Given the description of an element on the screen output the (x, y) to click on. 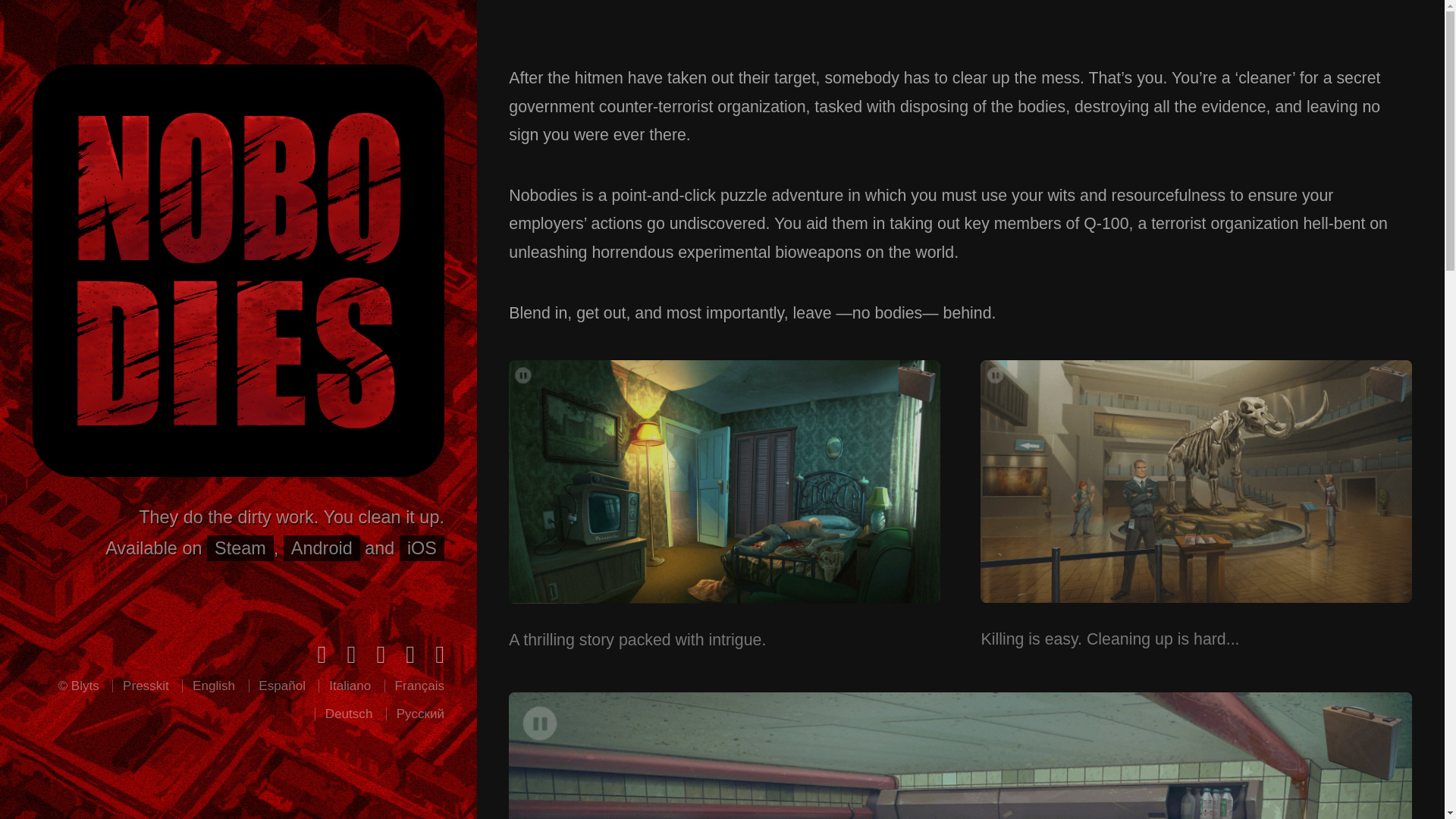
iOS (421, 548)
Blyts (85, 685)
English (213, 685)
Deutsch (348, 713)
Italiano (350, 685)
Presskit (145, 685)
Steam (239, 548)
Android (321, 548)
